Given the description of an element on the screen output the (x, y) to click on. 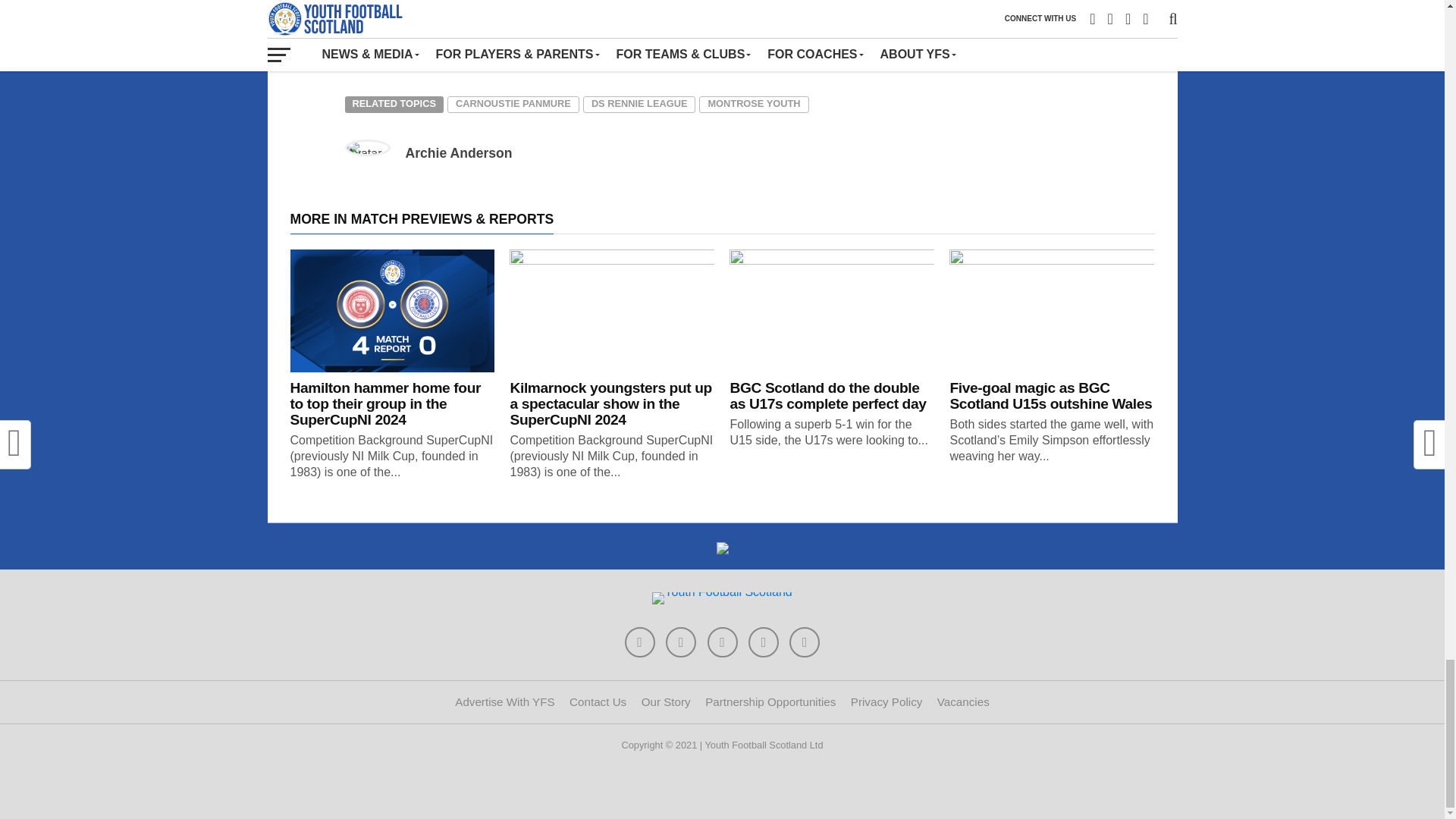
Posts by Archie Anderson (458, 152)
